Given the description of an element on the screen output the (x, y) to click on. 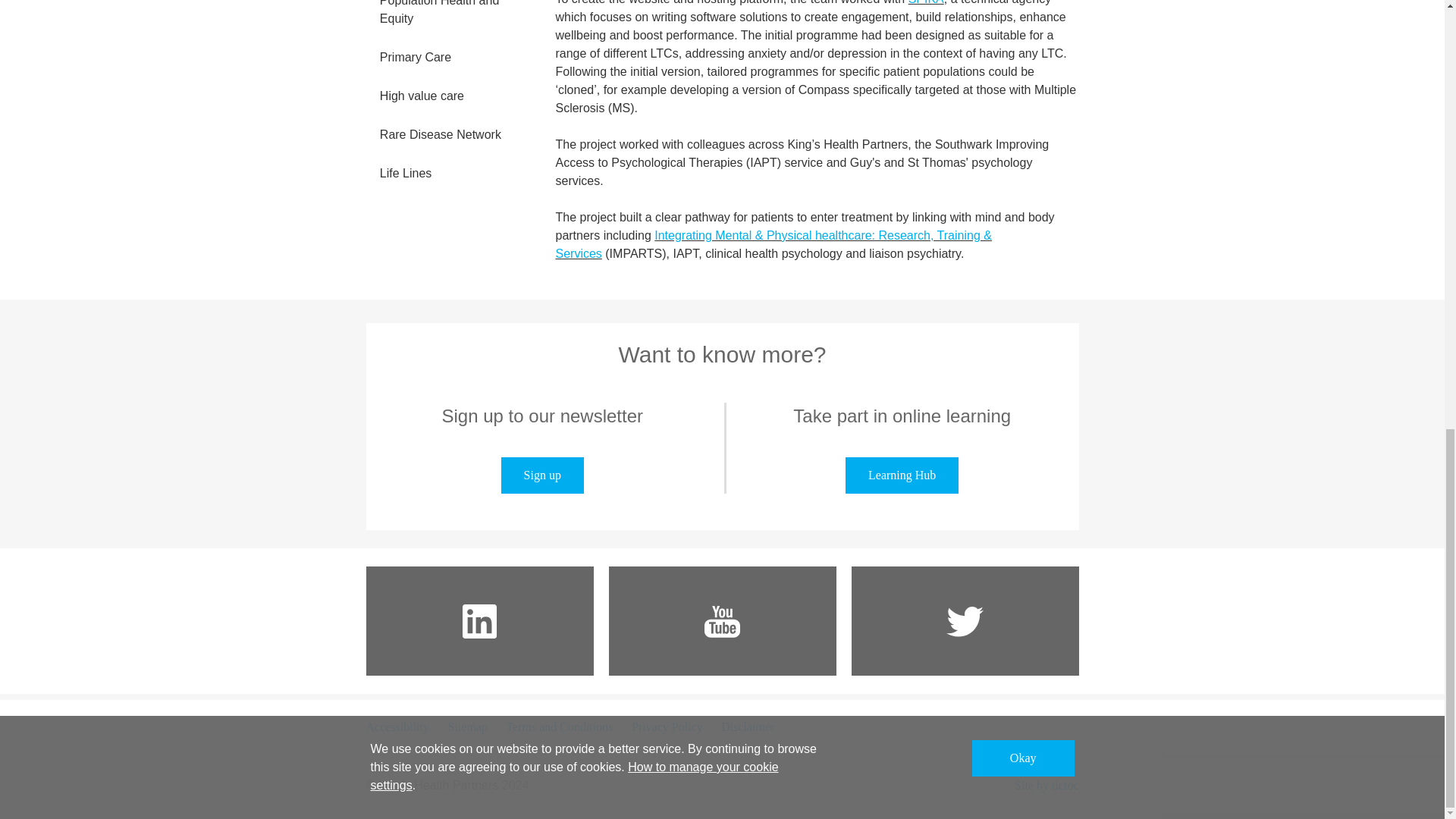
Population Health and Equity (448, 19)
High value care (448, 97)
Sign up (541, 475)
Rare Disease Network (448, 135)
Accessibility (397, 726)
Learning Hub (901, 475)
Twitter (964, 620)
Terms and Conditions (558, 726)
Linkedin (478, 620)
Life Lines (448, 174)
created by tictoc (1046, 785)
Primary Care (448, 57)
SPIKA (925, 2)
YouTube (721, 620)
Sitemap (467, 726)
